Given the description of an element on the screen output the (x, y) to click on. 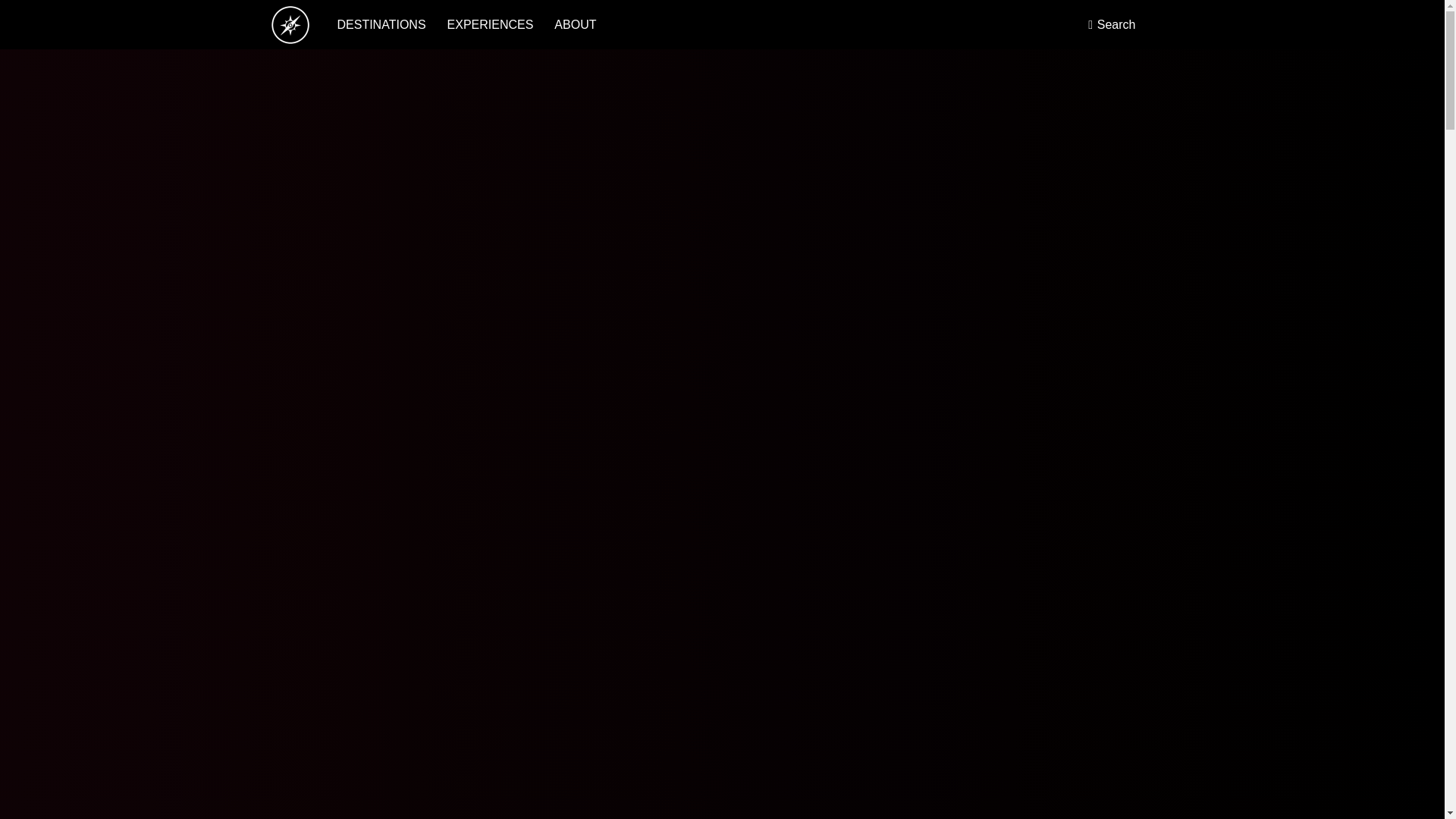
Search (1111, 23)
ABOUT (574, 24)
EXPERIENCES (490, 24)
DESTINATIONS (380, 24)
